Given the description of an element on the screen output the (x, y) to click on. 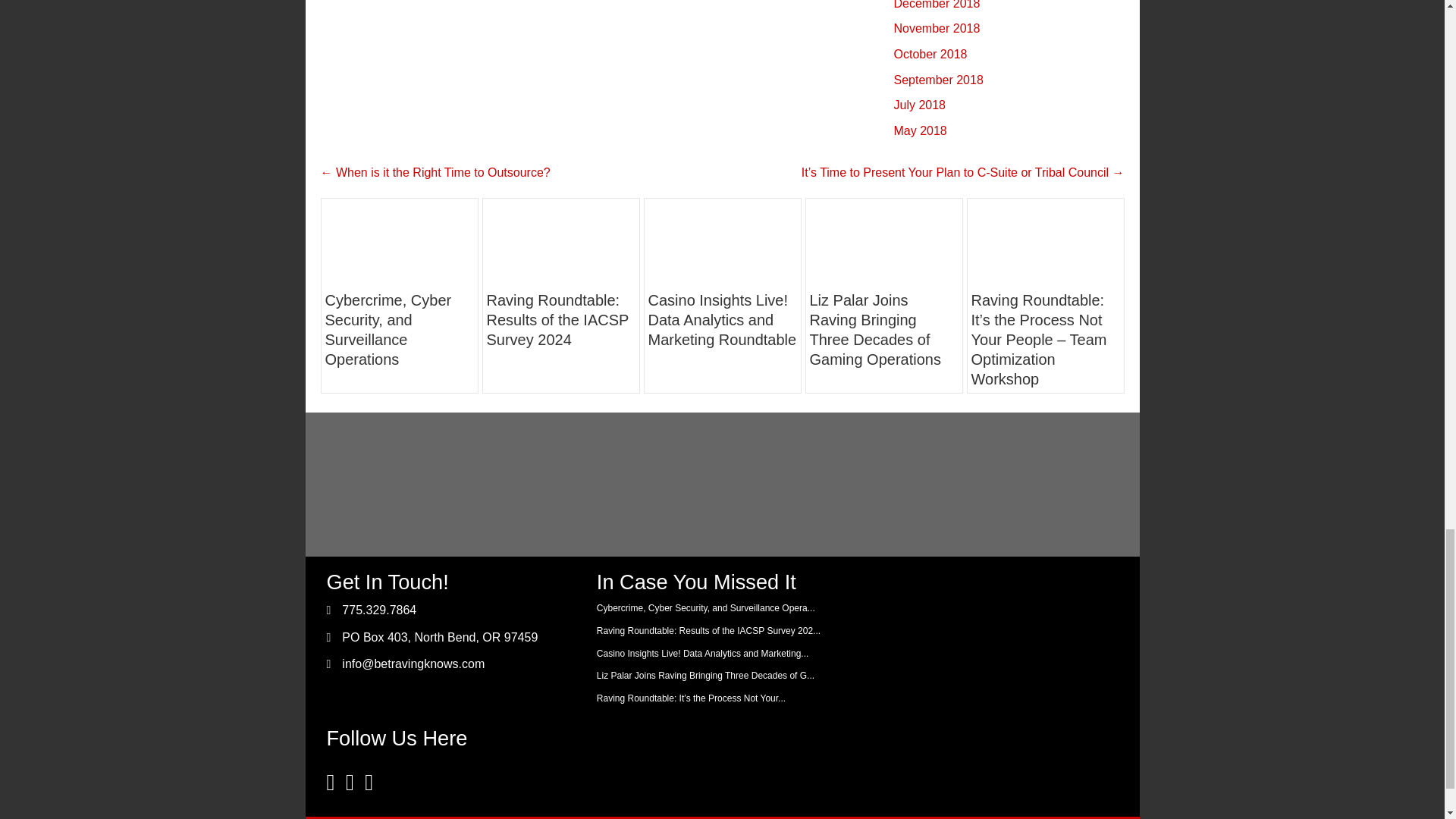
Cybercrime, Cyber Security, and Surveillance Operations (399, 241)
OIGA-Logo-bc-white (380, 484)
Raving Roundtable: Results of the IACSP Survey 2024 (560, 241)
wiga-logo-2020-cropped (927, 483)
cniga-logo-19-init (790, 484)
nb3f-logo (654, 483)
Cybercrime, Cyber Security, and Surveillance Operations (387, 329)
